Given the description of an element on the screen output the (x, y) to click on. 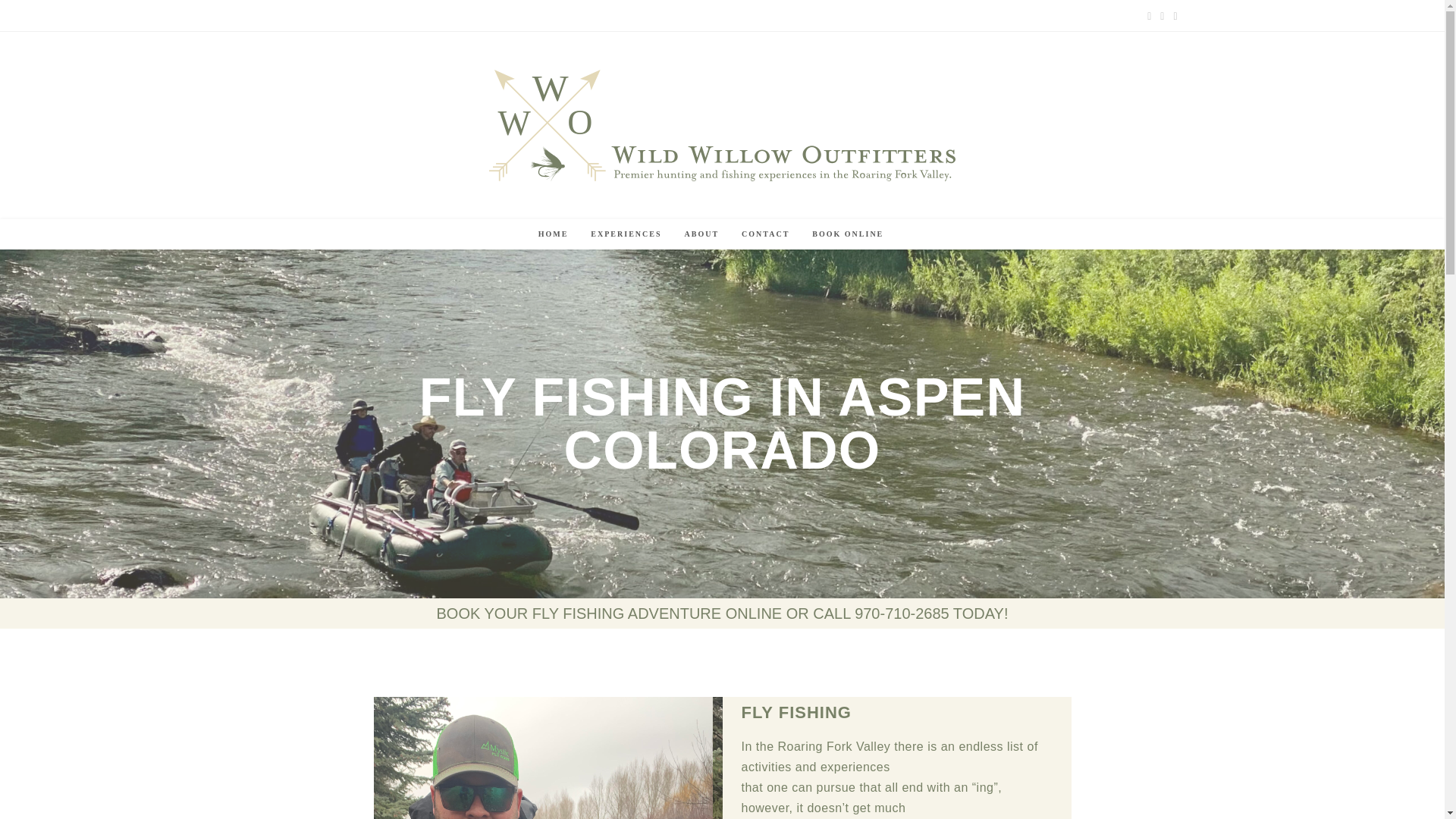
ABOUT (701, 234)
CONTACT (765, 234)
BOOK ONLINE (847, 234)
EXPERIENCES (625, 234)
HOME (553, 234)
